Given the description of an element on the screen output the (x, y) to click on. 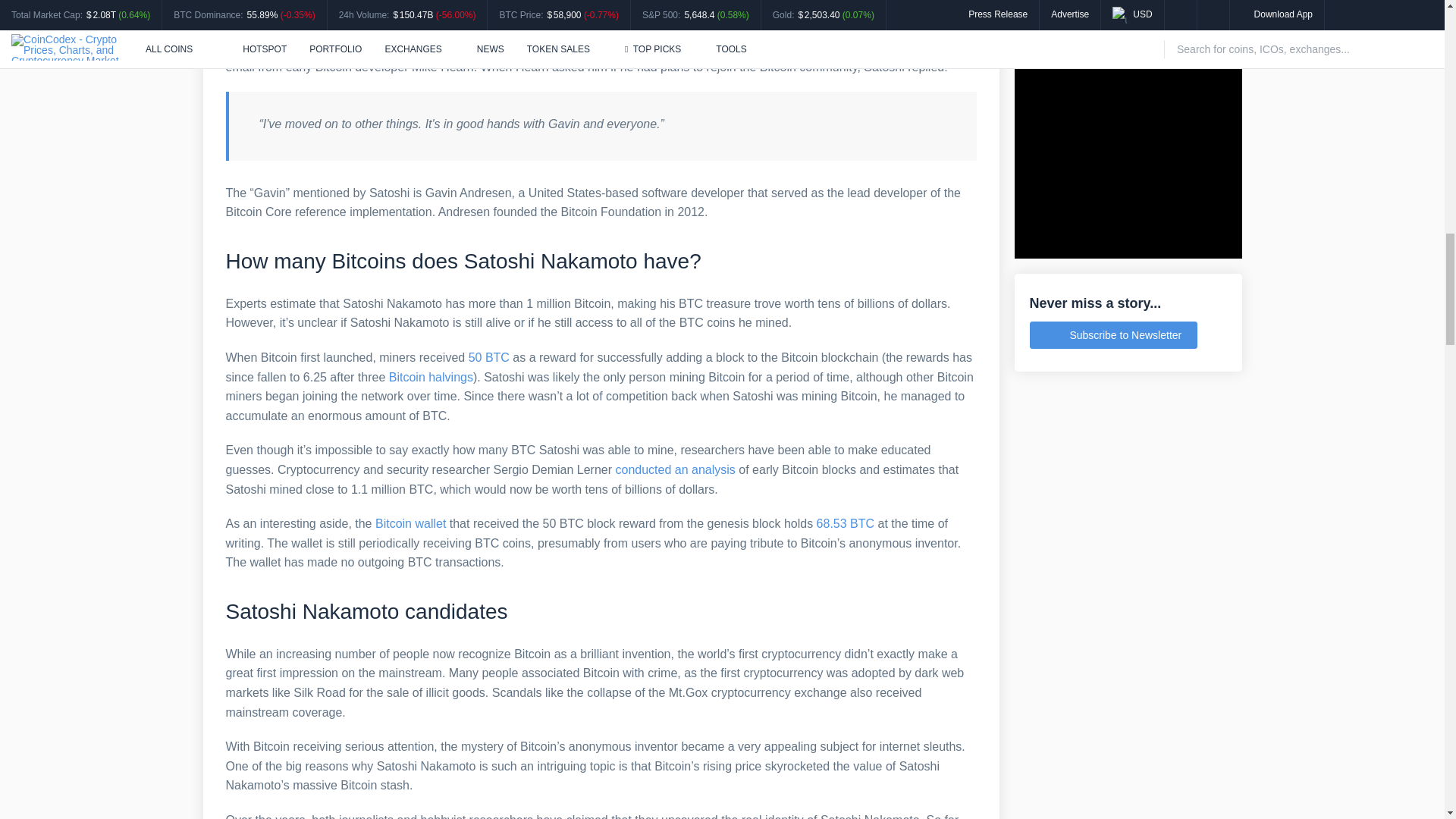
Bitcoin Talk account (457, 27)
68.53 BTC (845, 522)
conducted an analysis (675, 469)
Bitcoin wallet (410, 522)
Bitcoin halvings (430, 377)
50 BTC (488, 357)
